Given the description of an element on the screen output the (x, y) to click on. 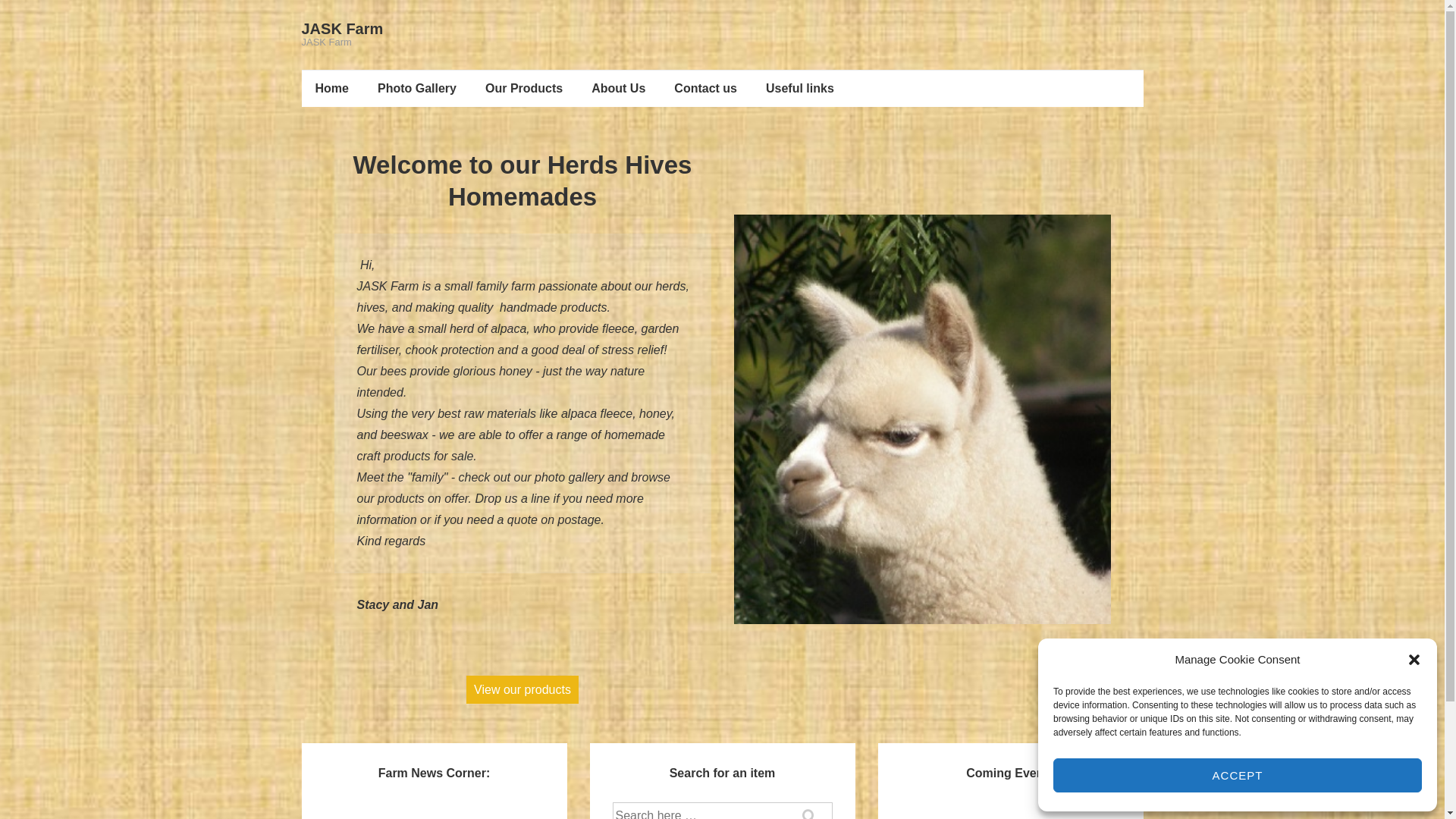
Photo Gallery Element type: text (417, 88)
View our products Element type: text (522, 689)
Contact us Element type: text (705, 88)
About Us Element type: text (617, 88)
Useful links Element type: text (799, 88)
JASK Farm Element type: text (342, 28)
Our Products Element type: text (523, 88)
Home Element type: text (331, 88)
ACCEPT Element type: text (1237, 775)
